Given the description of an element on the screen output the (x, y) to click on. 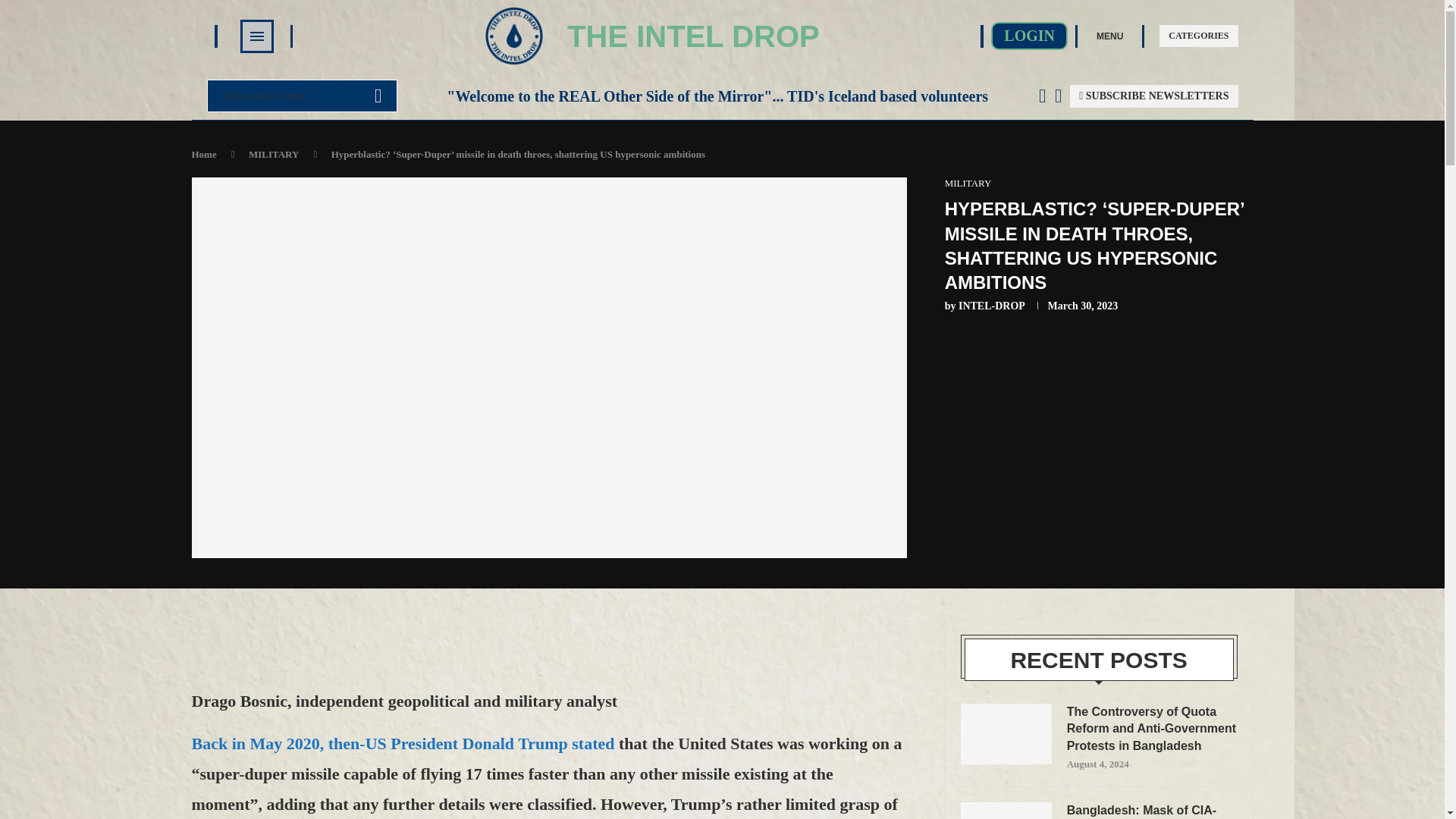
MENU (1109, 35)
CATEGORIES (1197, 35)
Home (202, 153)
THE INTEL DROP (693, 36)
SUBSCRIBE NEWSLETTERS (1153, 96)
LOGIN (1029, 35)
